Given the description of an element on the screen output the (x, y) to click on. 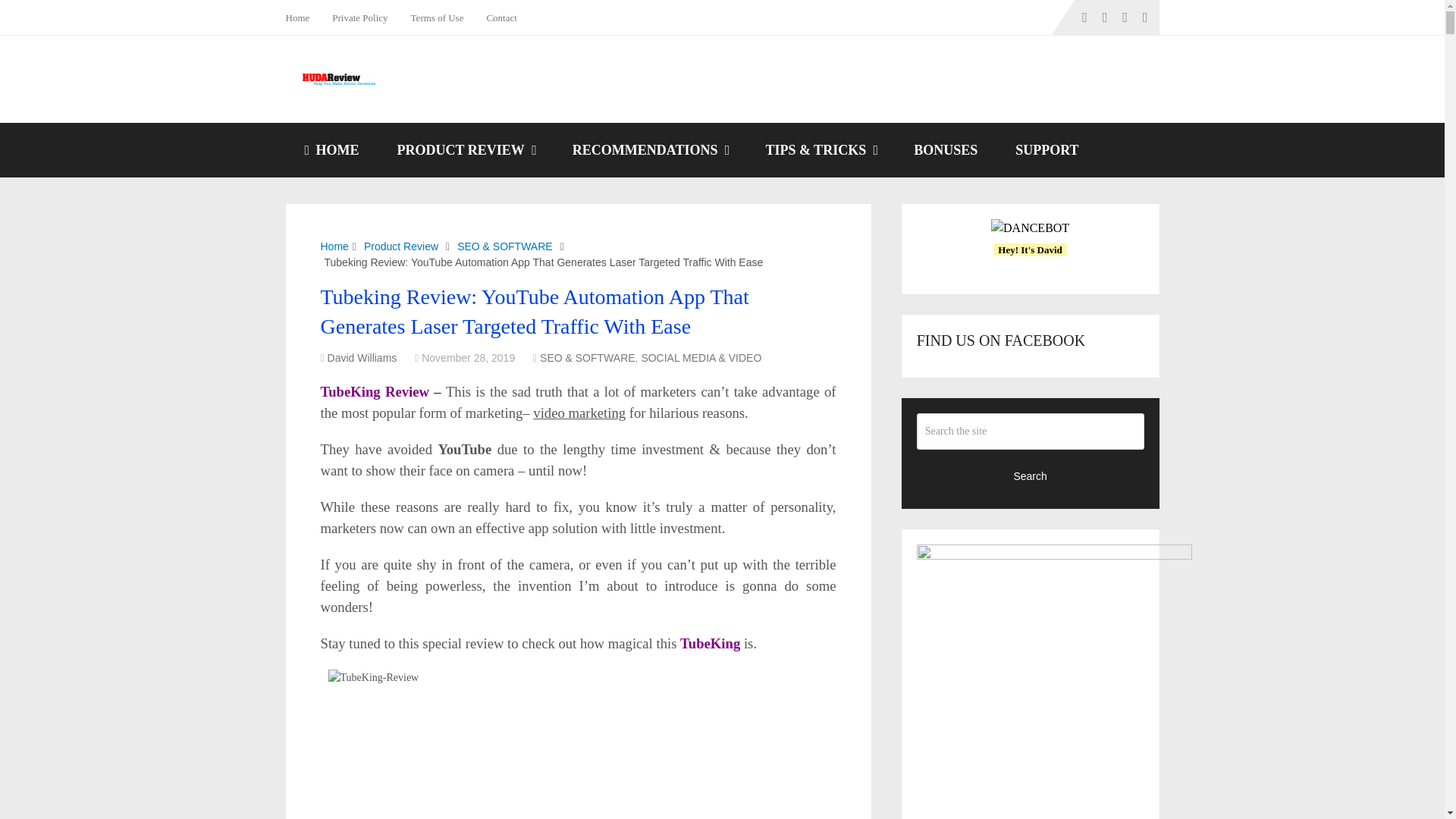
Terms of Use (437, 17)
Posts by David Williams (362, 357)
RECOMMENDATIONS (649, 149)
HOME (331, 149)
PRODUCT REVIEW (465, 149)
BONUSES (945, 149)
Private Policy (359, 17)
Contact (500, 17)
Home (302, 17)
